Given the description of an element on the screen output the (x, y) to click on. 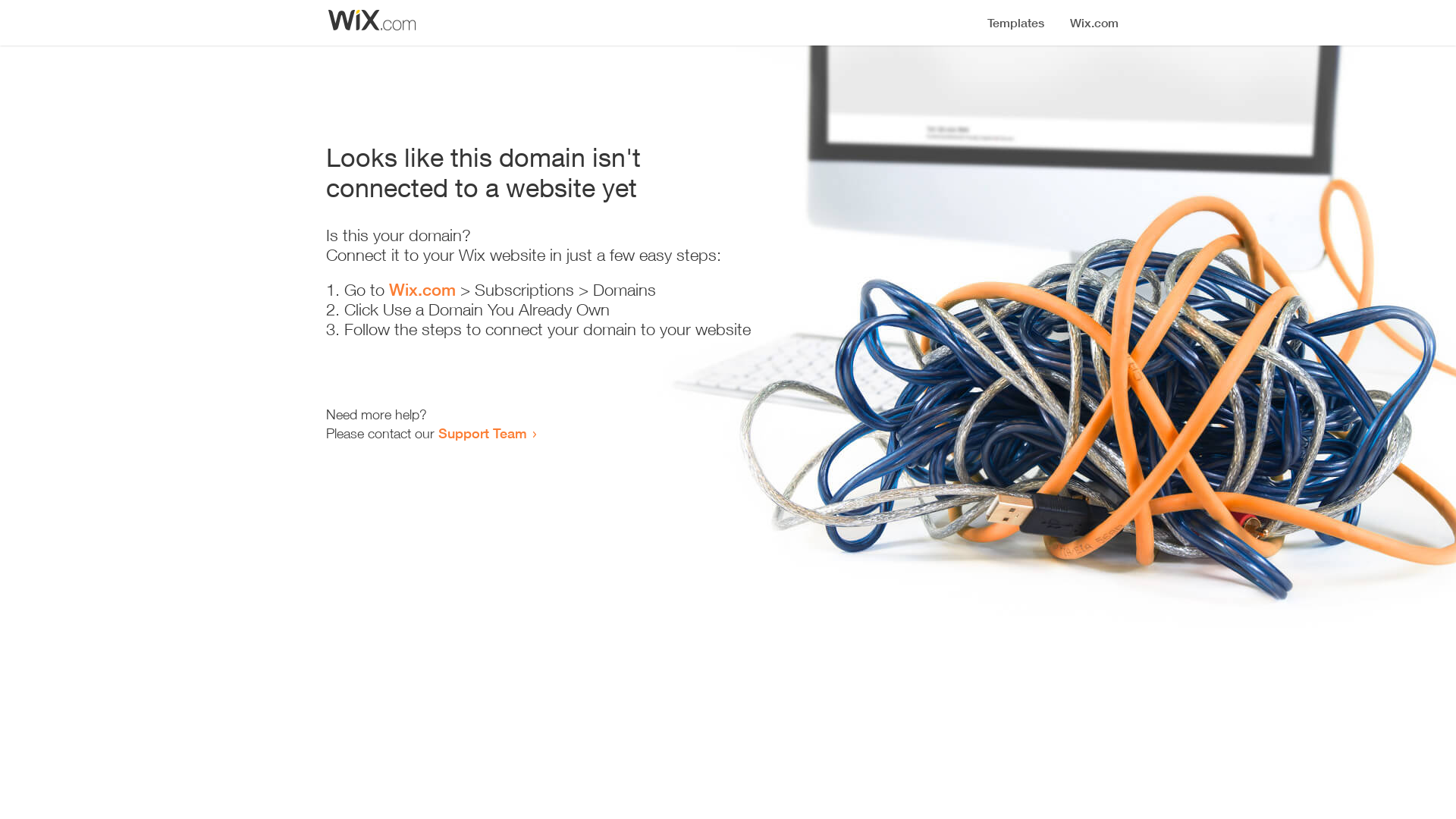
Support Team Element type: text (482, 432)
Wix.com Element type: text (422, 289)
